Given the description of an element on the screen output the (x, y) to click on. 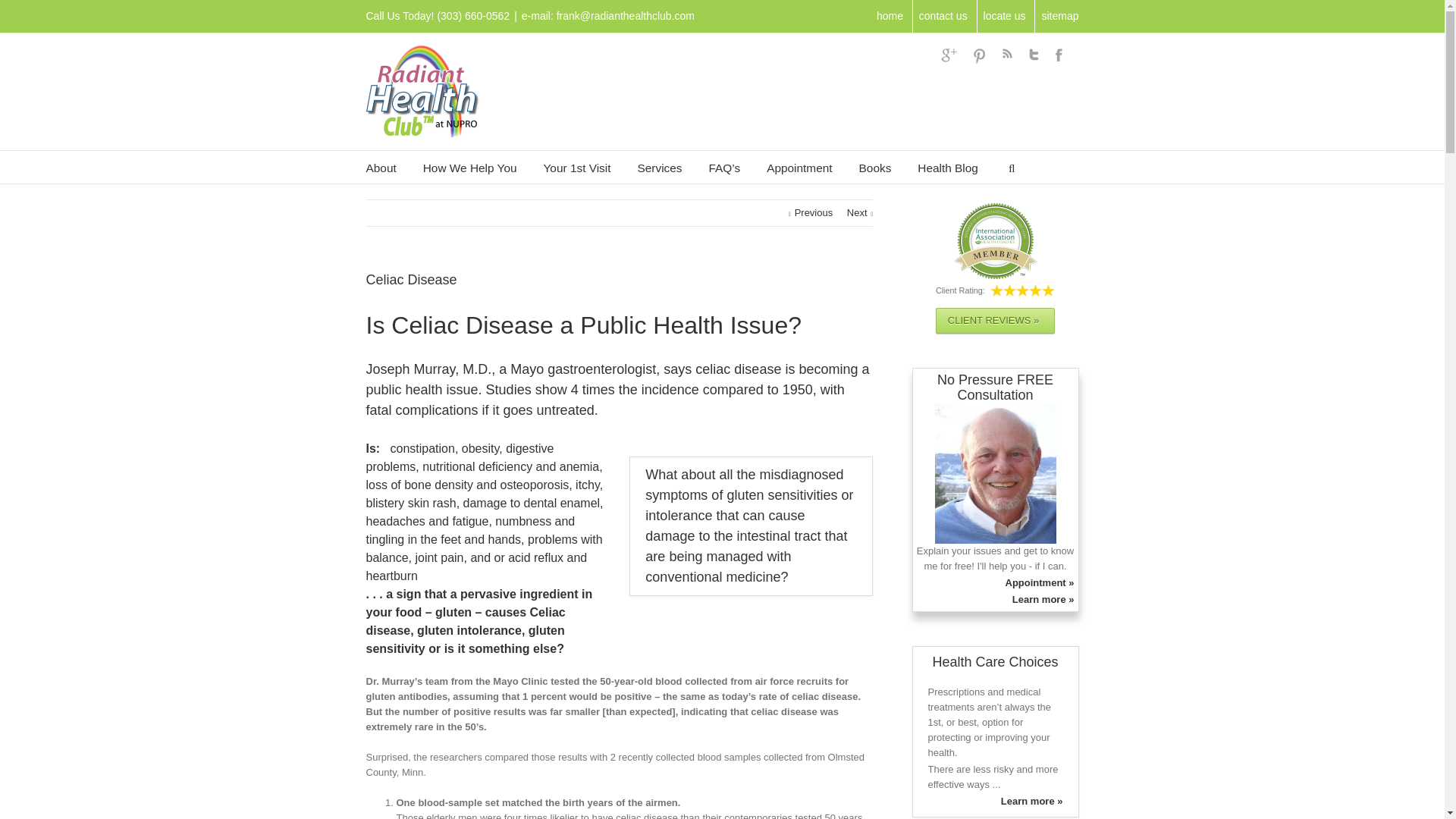
Radiant Health Club, Castle Rock, CO, USA (1005, 15)
home (889, 15)
locate us (1005, 15)
Your 1st Visit (577, 166)
Books (875, 166)
How We Help You (469, 166)
Holistic Methods, Natural Remedies, Practical Solutions (659, 166)
sitemap (1059, 15)
RSS (1007, 53)
About (380, 166)
contact us (943, 15)
Health Blog (947, 166)
Services (659, 166)
Appointment (799, 166)
